Given the description of an element on the screen output the (x, y) to click on. 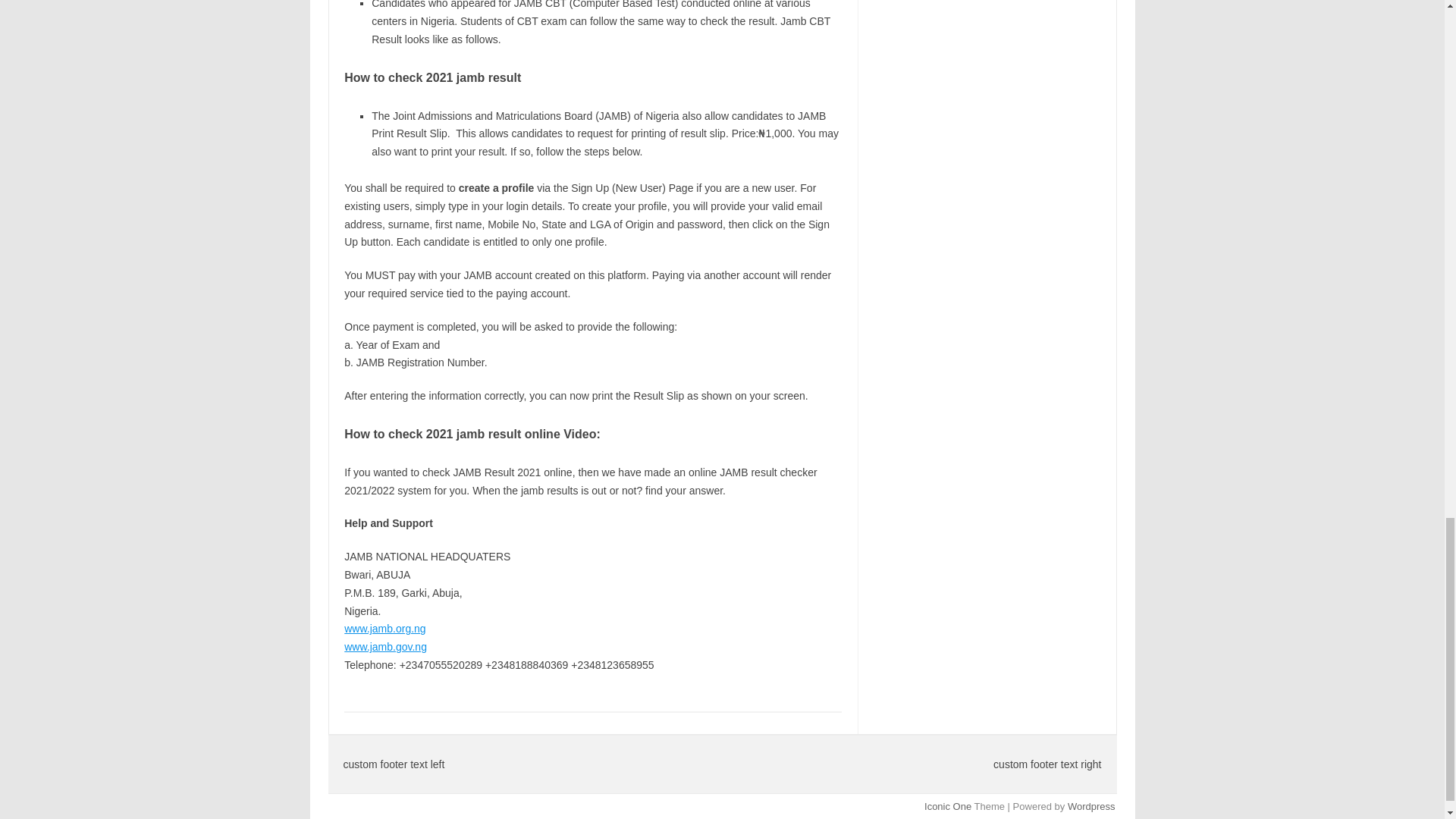
www.jamb.org.ng (384, 628)
Iconic One (947, 806)
Wordpress (1091, 806)
www.jamb.gov.ng (384, 646)
